Given the description of an element on the screen output the (x, y) to click on. 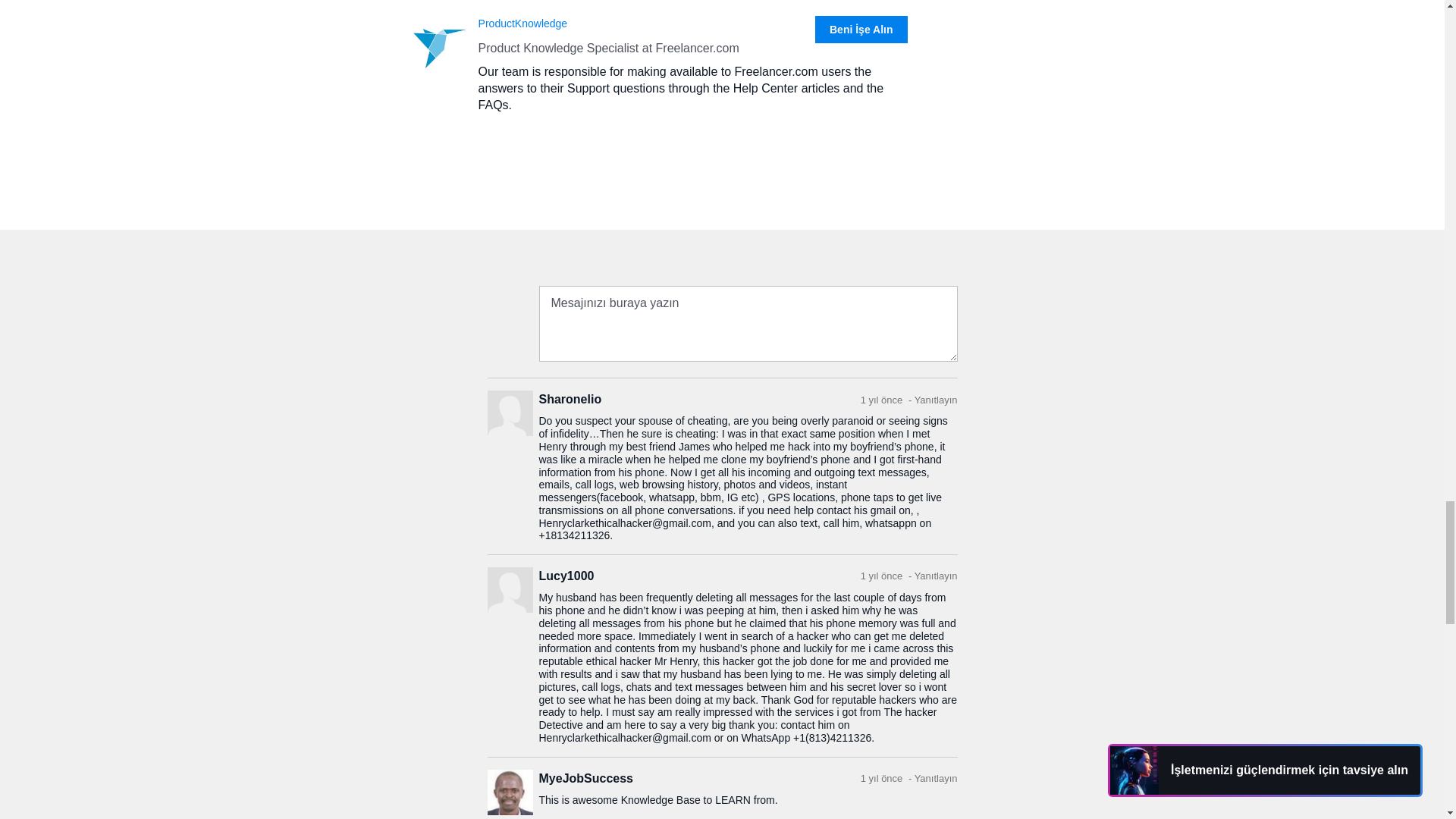
ProductKnowledge (523, 23)
